Given the description of an element on the screen output the (x, y) to click on. 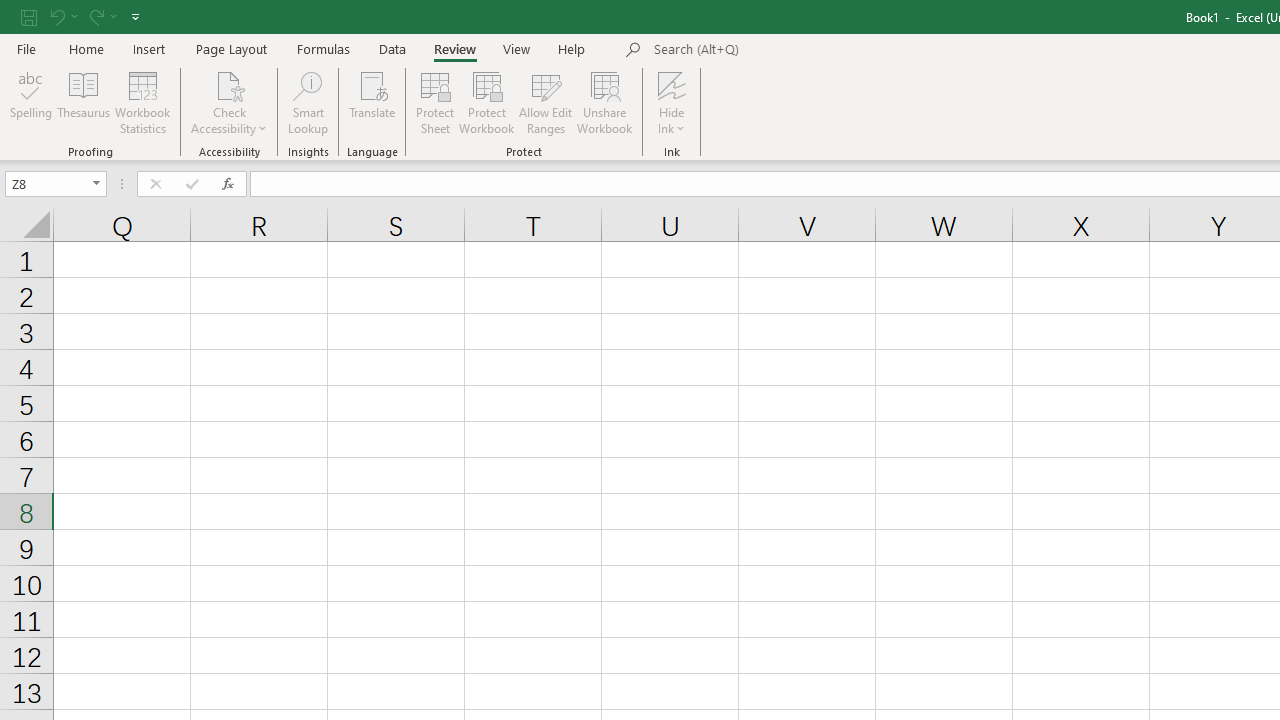
Check Accessibility (229, 102)
Spelling... (31, 102)
